Given the description of an element on the screen output the (x, y) to click on. 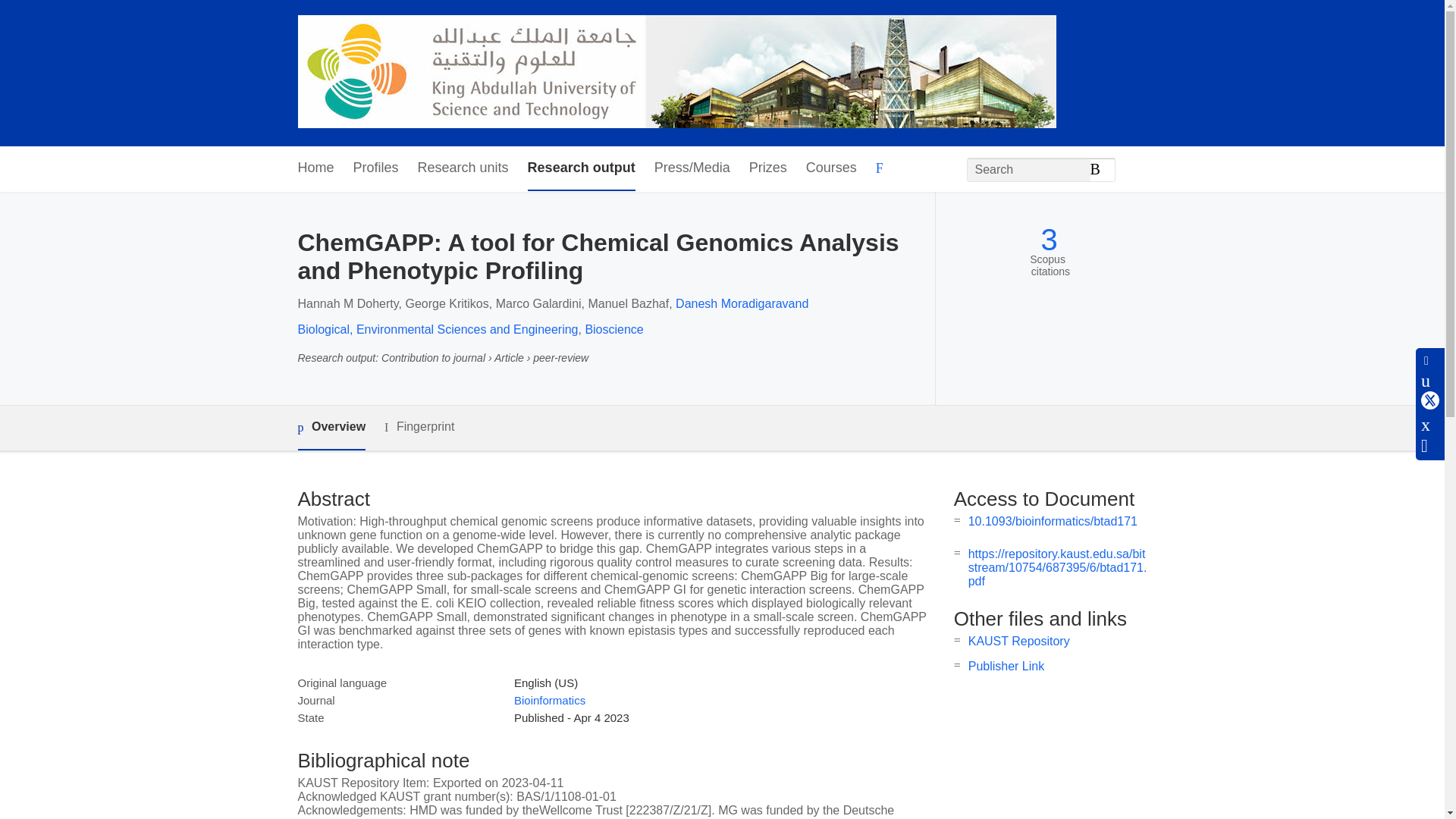
Danesh Moradigaravand (741, 303)
Bioinformatics (549, 699)
Overview (331, 427)
Research output (580, 168)
Fingerprint (419, 426)
Bioscience (614, 328)
Biological, Environmental Sciences and Engineering (437, 328)
Profiles (375, 168)
KAUST Repository (1019, 640)
